Given the description of an element on the screen output the (x, y) to click on. 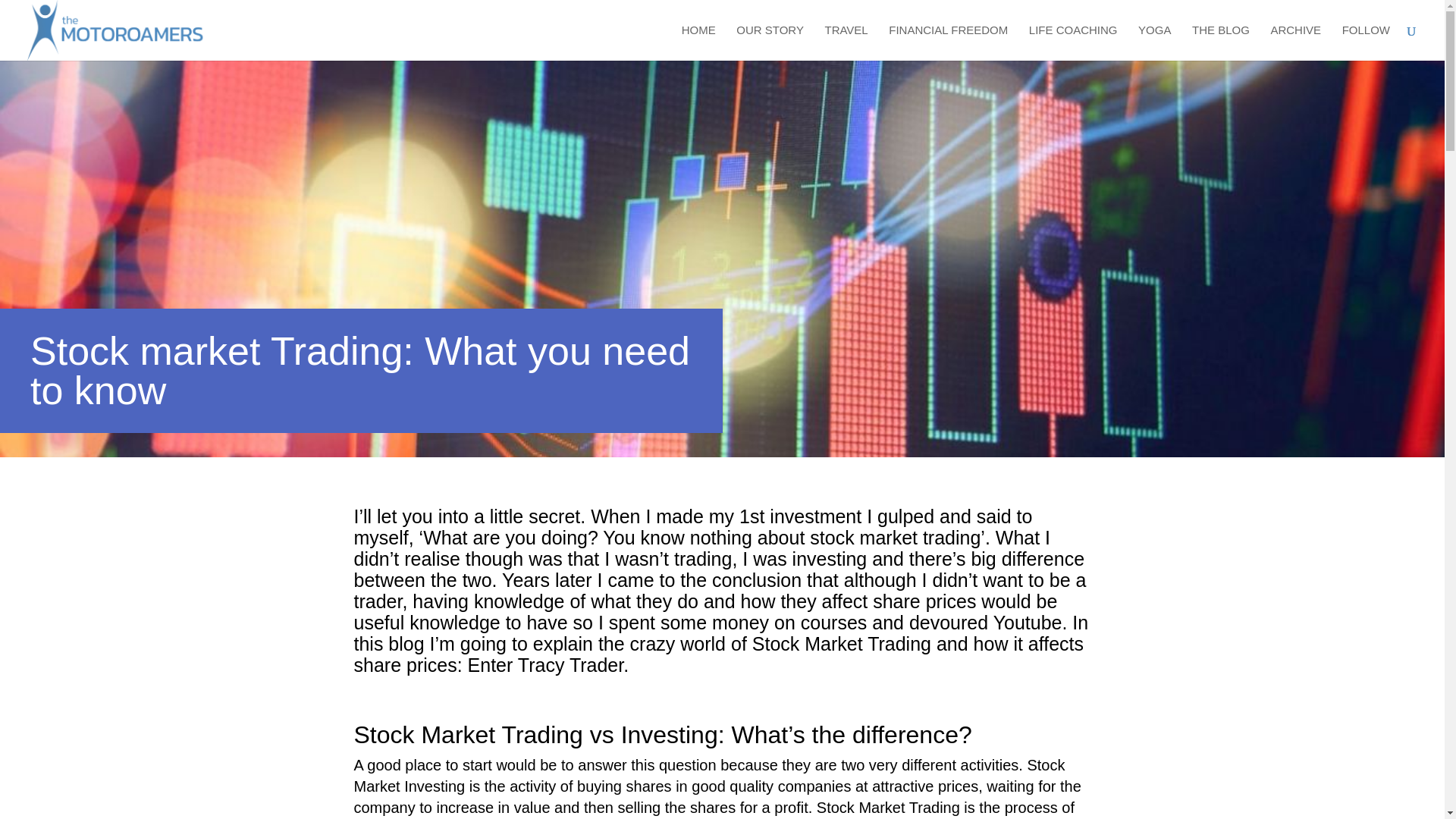
OUR STORY (769, 42)
ARCHIVE (1294, 42)
FINANCIAL FREEDOM (947, 42)
TRAVEL (845, 42)
LIFE COACHING (1073, 42)
THE BLOG (1220, 42)
HOME (698, 42)
FOLLOW (1366, 42)
YOGA (1154, 42)
